Given the description of an element on the screen output the (x, y) to click on. 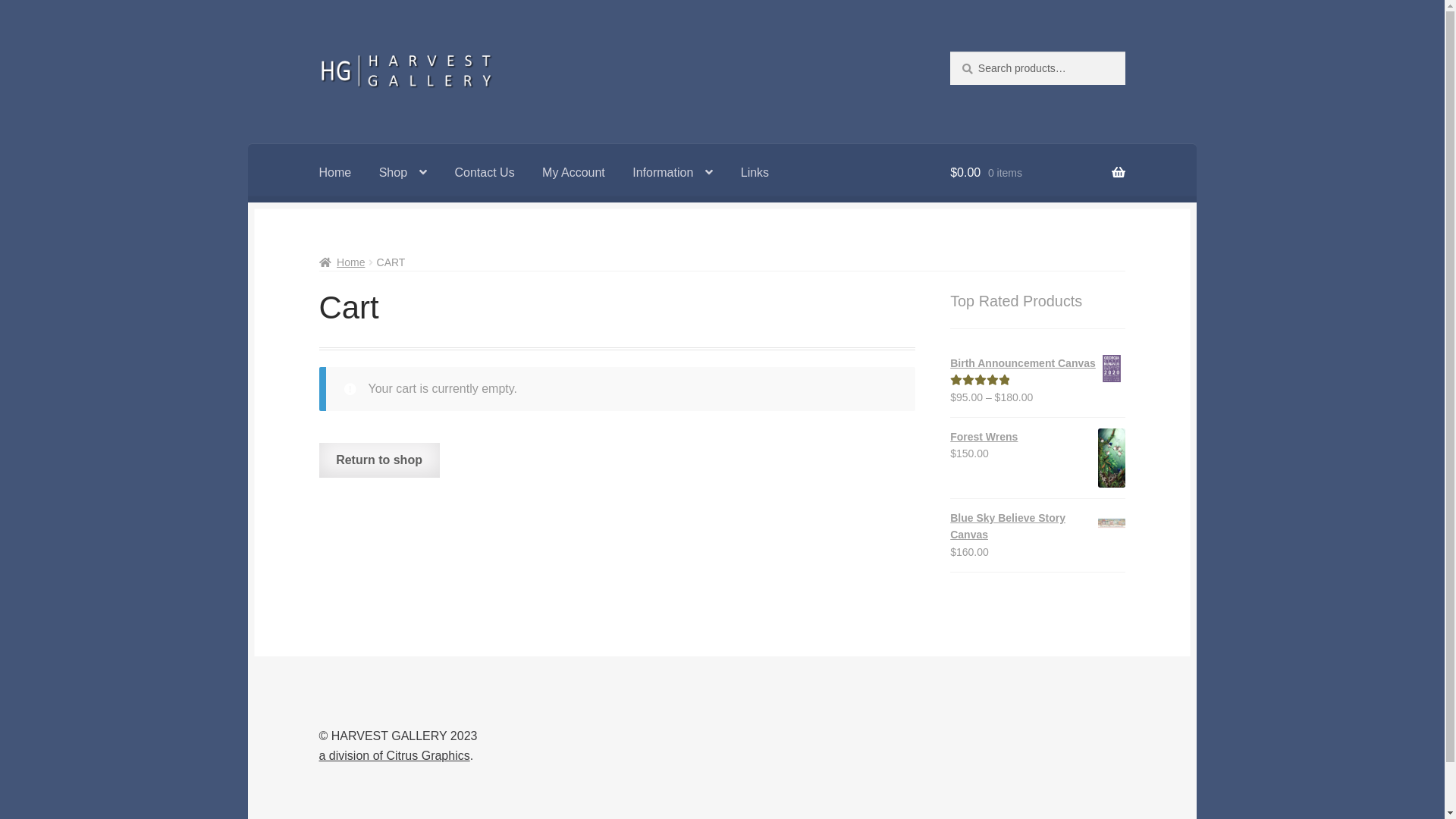
Contact Us Element type: text (484, 172)
My Account Element type: text (573, 172)
Search Element type: text (949, 50)
Birth Announcement Canvas Element type: text (1037, 363)
$0.00 0 items Element type: text (1037, 172)
Home Element type: text (335, 172)
Forest Wrens Element type: text (1037, 436)
Information Element type: text (672, 172)
Links Element type: text (754, 172)
Blue Sky Believe Story Canvas Element type: text (1037, 526)
Shop Element type: text (403, 172)
Skip to navigation Element type: text (318, 50)
a division of Citrus Graphics Element type: text (394, 755)
Return to shop Element type: text (379, 459)
Home Element type: text (342, 262)
